Given the description of an element on the screen output the (x, y) to click on. 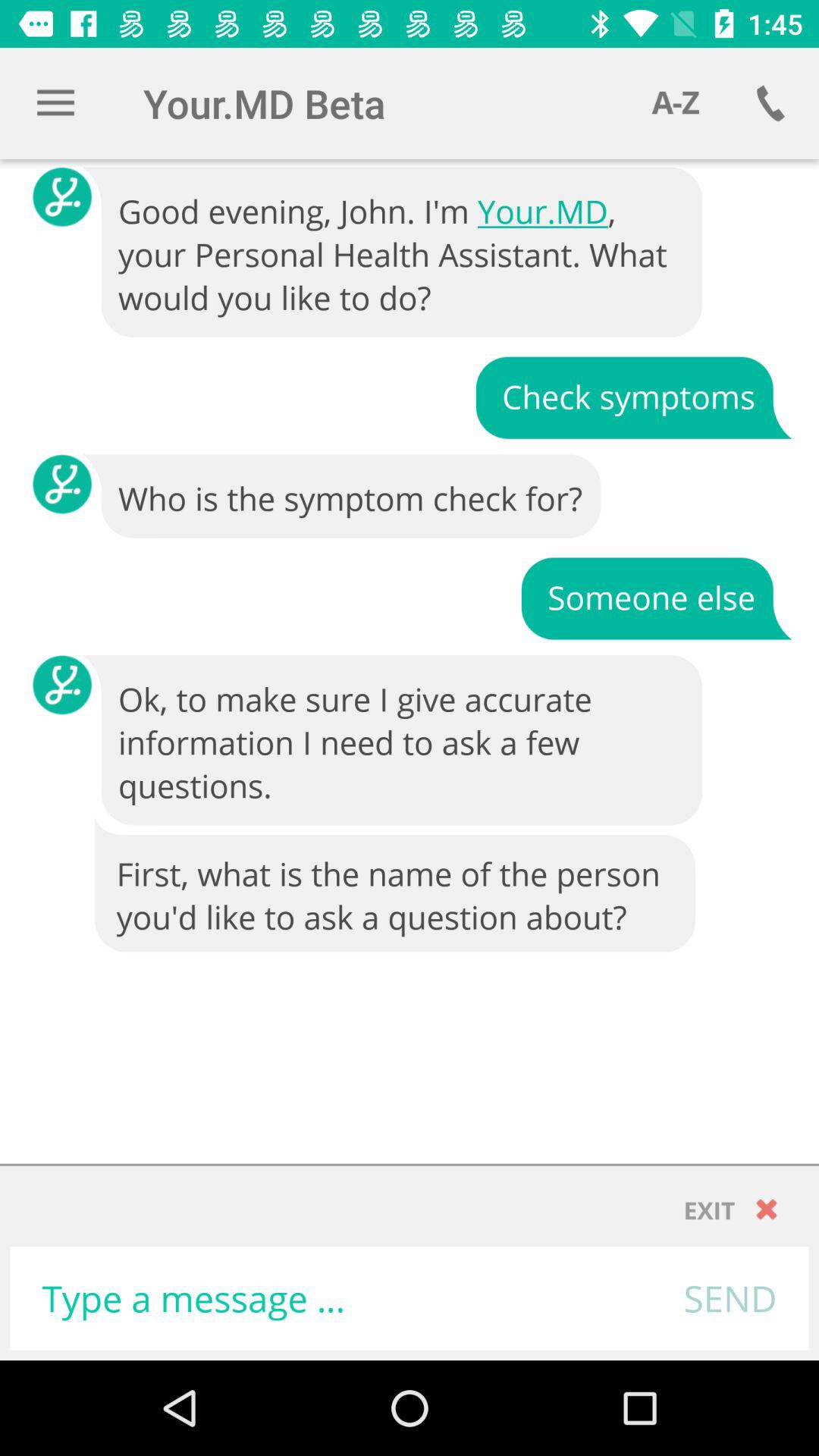
click send (729, 1298)
